Given the description of an element on the screen output the (x, y) to click on. 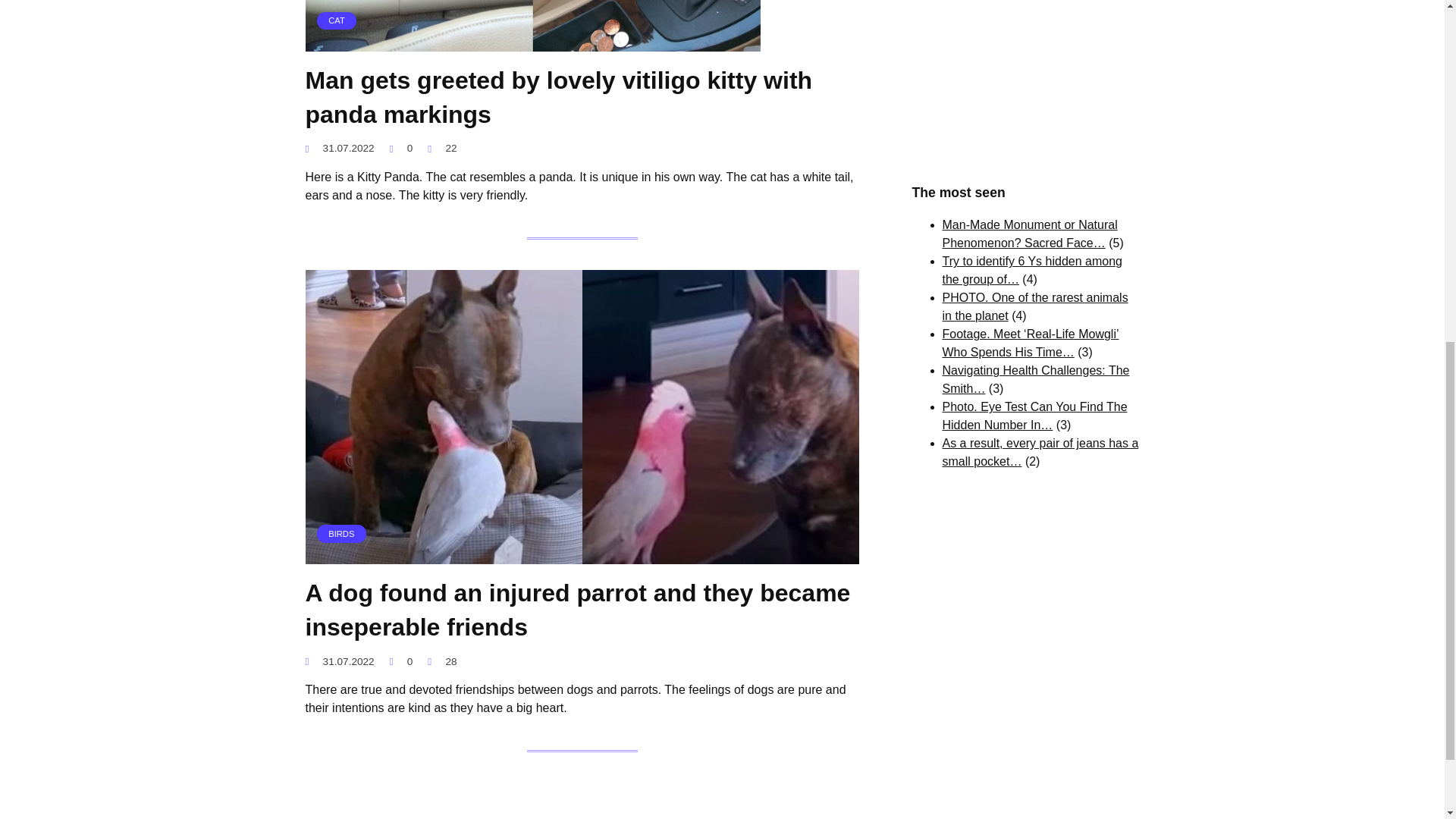
BIRDS (581, 554)
Advertisement (1024, 76)
CAT (532, 42)
PHOTO. One of the rarest animals in the planet (1034, 306)
